Given the description of an element on the screen output the (x, y) to click on. 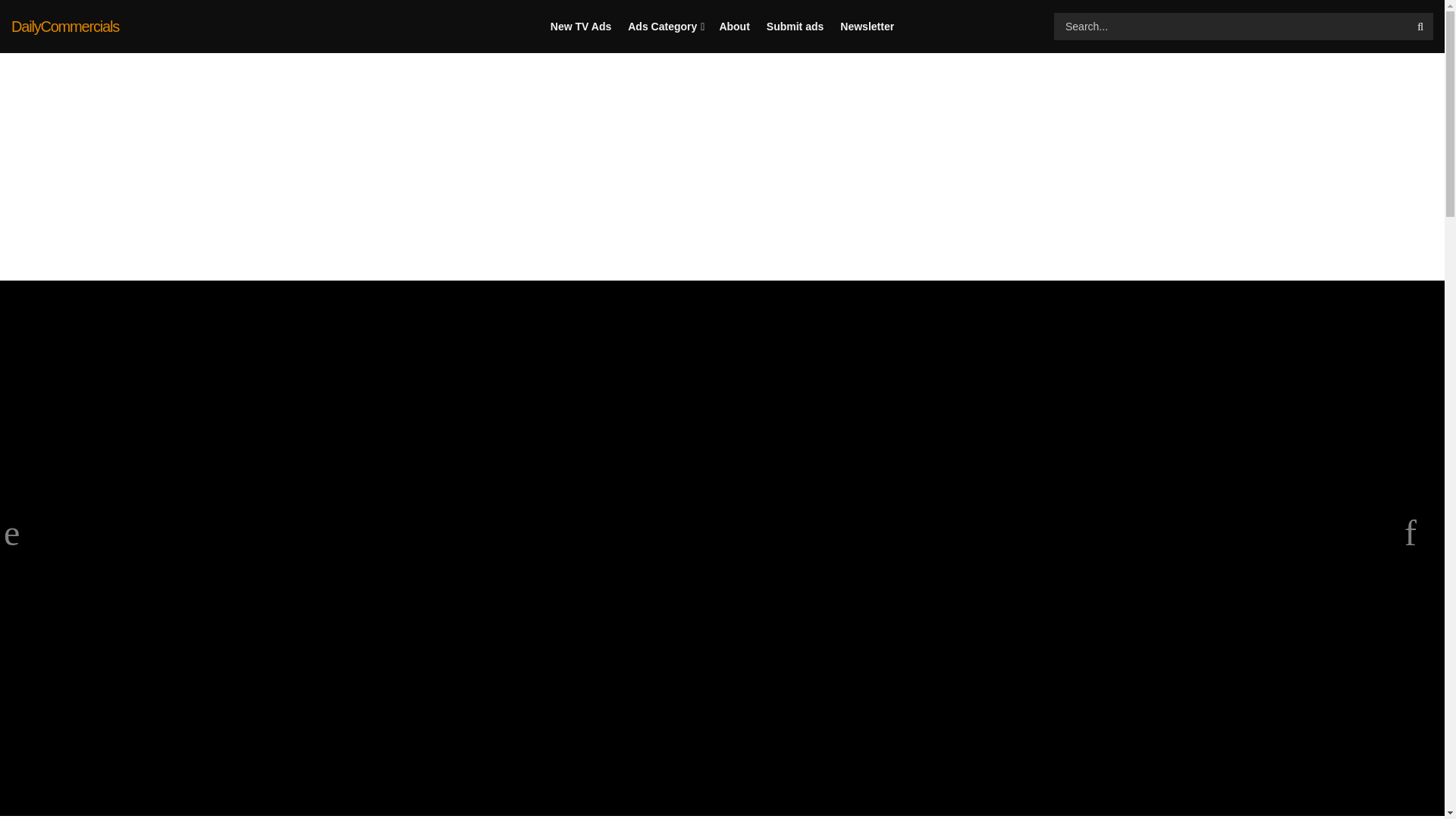
Newsletter (866, 26)
New TV Ads (580, 26)
Submit ads (795, 26)
DailyCommercials (65, 26)
Ads Category (664, 26)
